Given the description of an element on the screen output the (x, y) to click on. 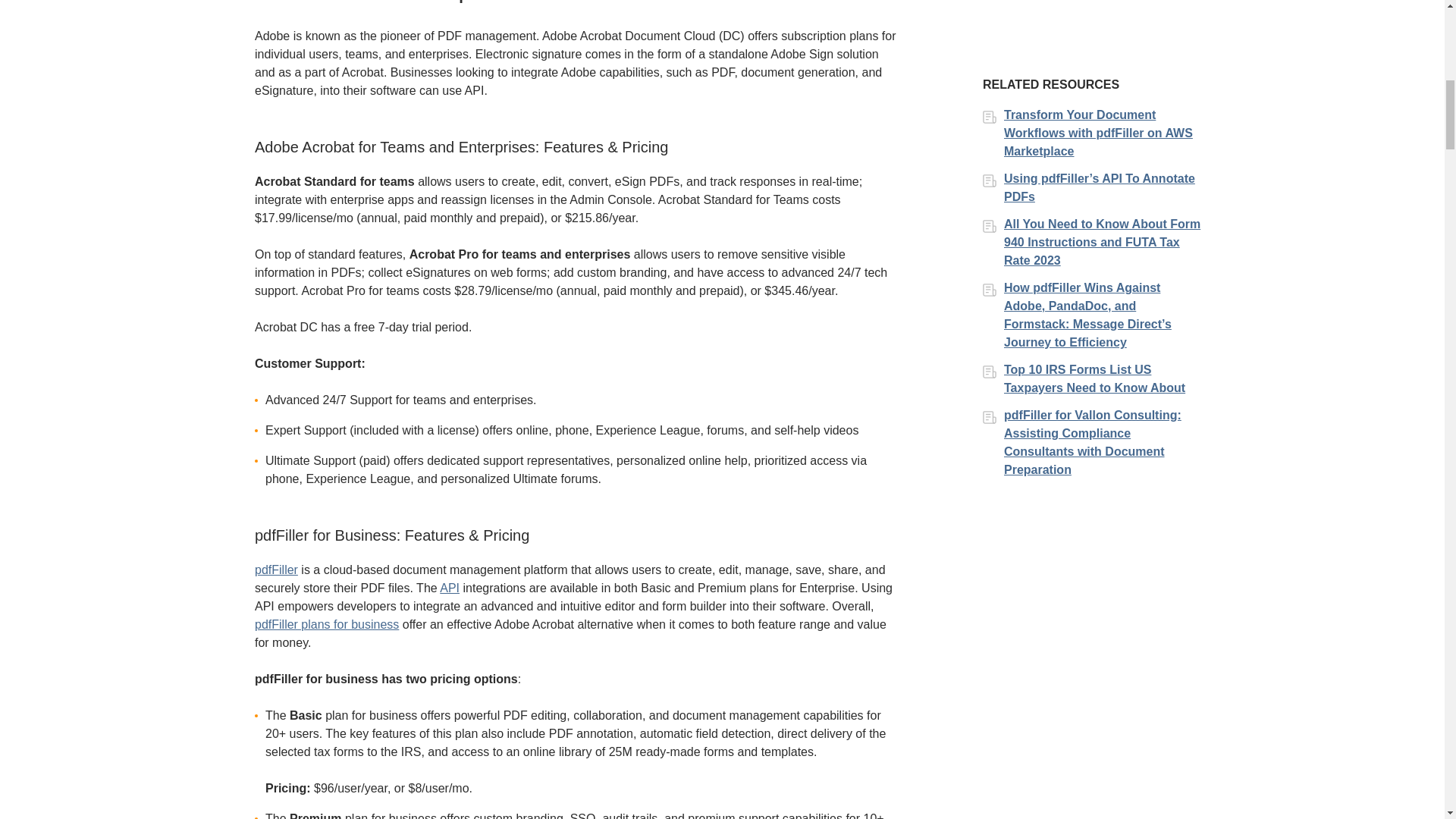
API (449, 587)
pdfFiller plans for business (326, 624)
pdfFiller (276, 569)
